Given the description of an element on the screen output the (x, y) to click on. 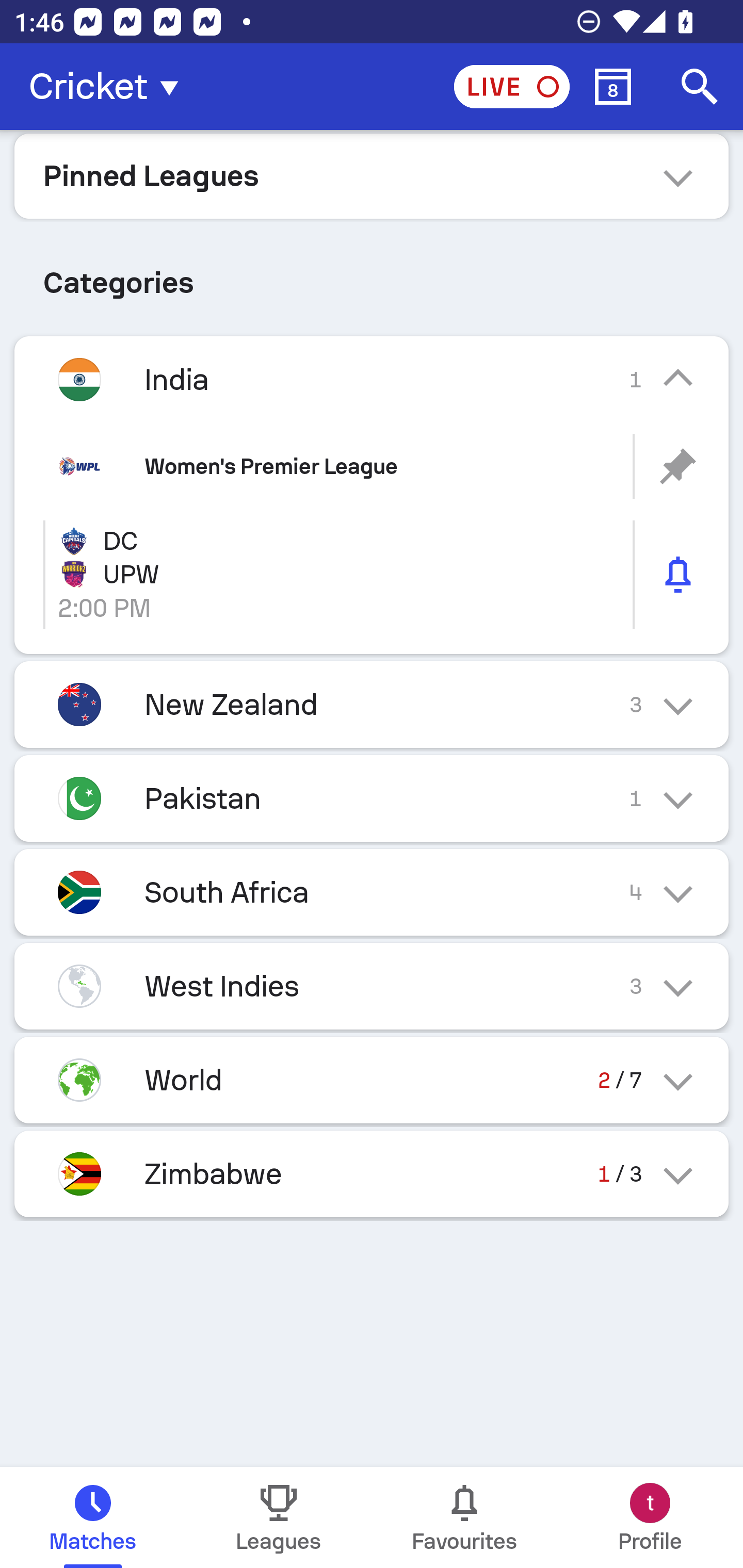
Cricket (109, 86)
Calendar (612, 86)
Search (699, 86)
Pinned Leagues (371, 175)
Categories (371, 275)
India 1 (371, 379)
Women's Premier League (371, 466)
DC UPW 2:00 PM (371, 574)
New Zealand 3 (371, 704)
Pakistan 1 (371, 798)
South Africa 4 (371, 892)
West Indies 3 (371, 986)
World 2 / 7 (371, 1079)
Zimbabwe 1 / 3 (371, 1173)
Leagues (278, 1517)
Favourites (464, 1517)
Profile (650, 1517)
